Given the description of an element on the screen output the (x, y) to click on. 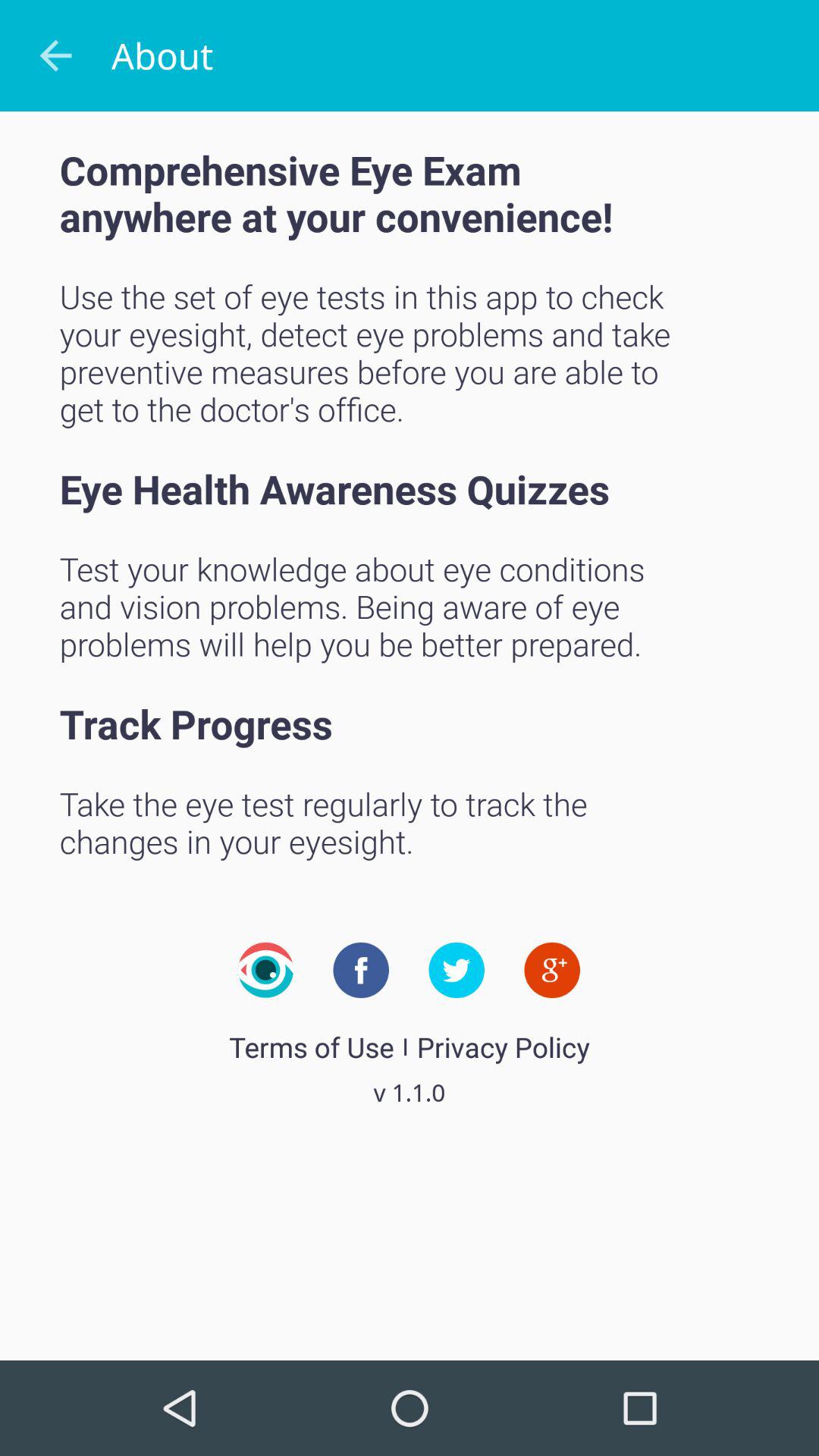
share to twitter (456, 970)
